Given the description of an element on the screen output the (x, y) to click on. 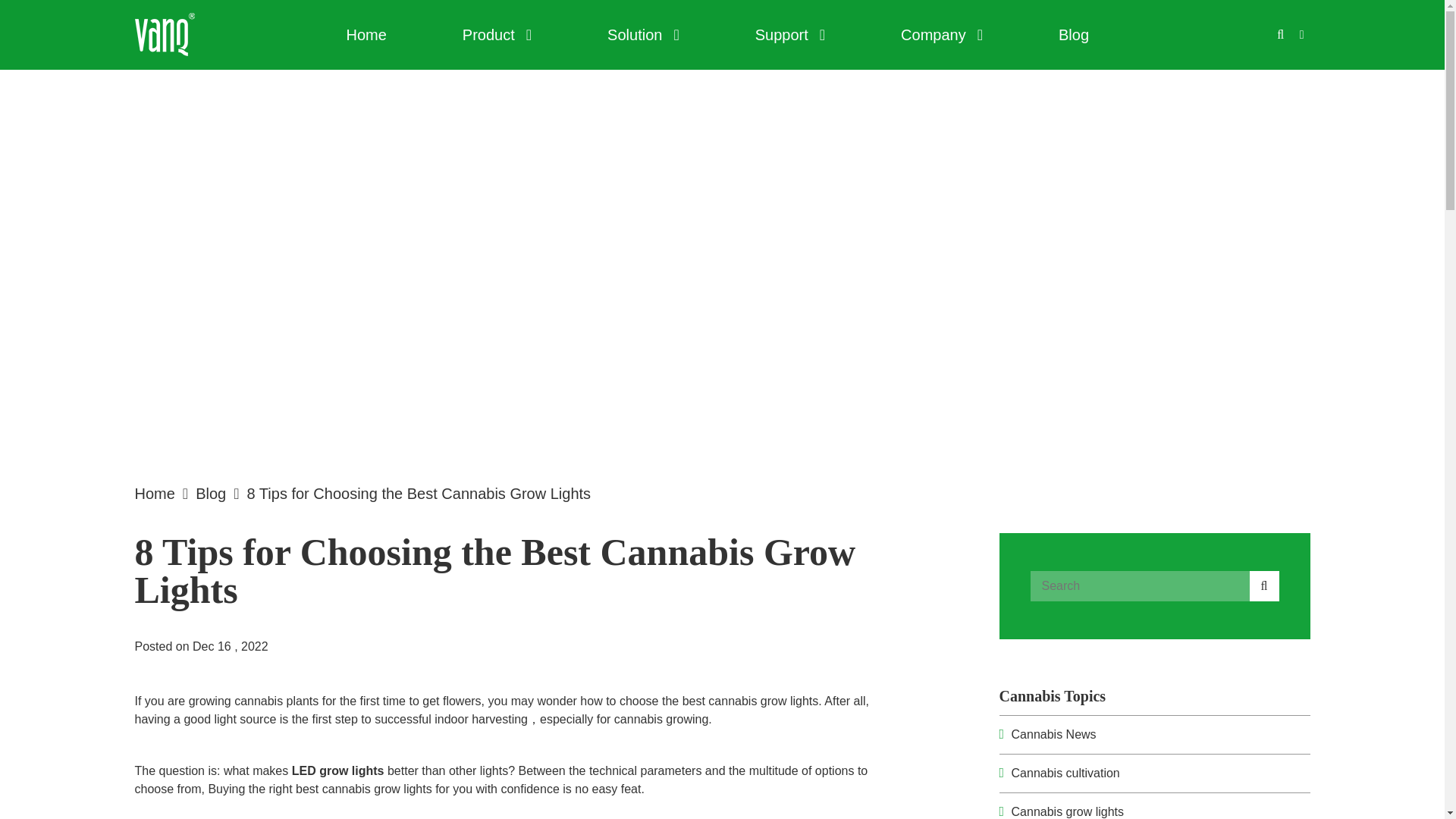
Blog (1073, 34)
Solution (643, 34)
Support (790, 34)
Product (497, 34)
Company (941, 34)
Home (365, 34)
